Given the description of an element on the screen output the (x, y) to click on. 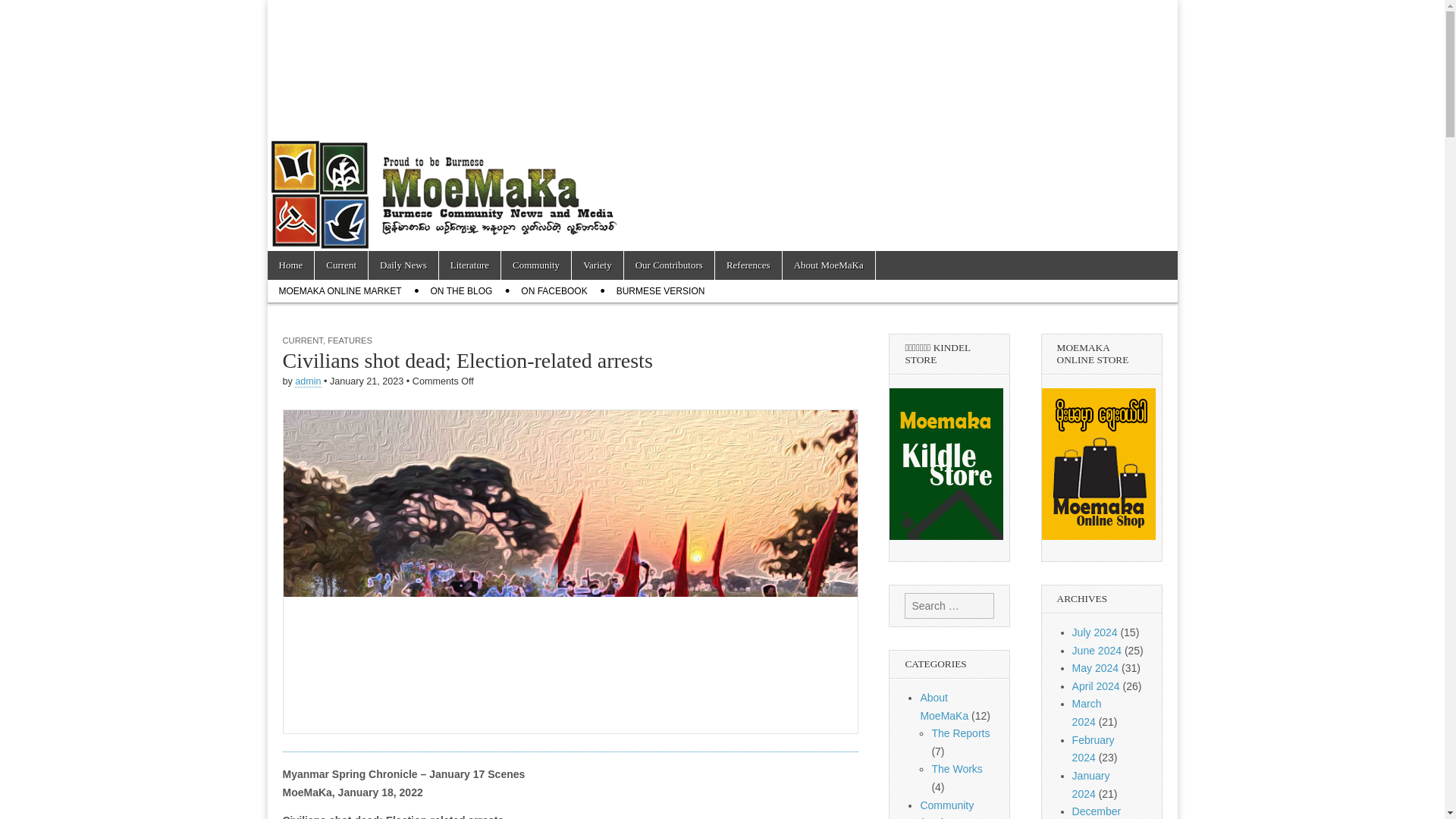
The Reports of MoeMaKa (960, 733)
Home (290, 265)
About MoeMaKa (944, 706)
About MoeMaKa (829, 265)
The Works of MoeMaKa (956, 768)
ON THE BLOG (461, 291)
MOEMAKA ONLINE MARKET (339, 291)
Our Contributors (669, 265)
The Reports (960, 733)
ON FACEBOOK (553, 291)
Daily News (403, 265)
References (747, 265)
BURMESE VERSION (660, 291)
CURRENT (301, 339)
